Given the description of an element on the screen output the (x, y) to click on. 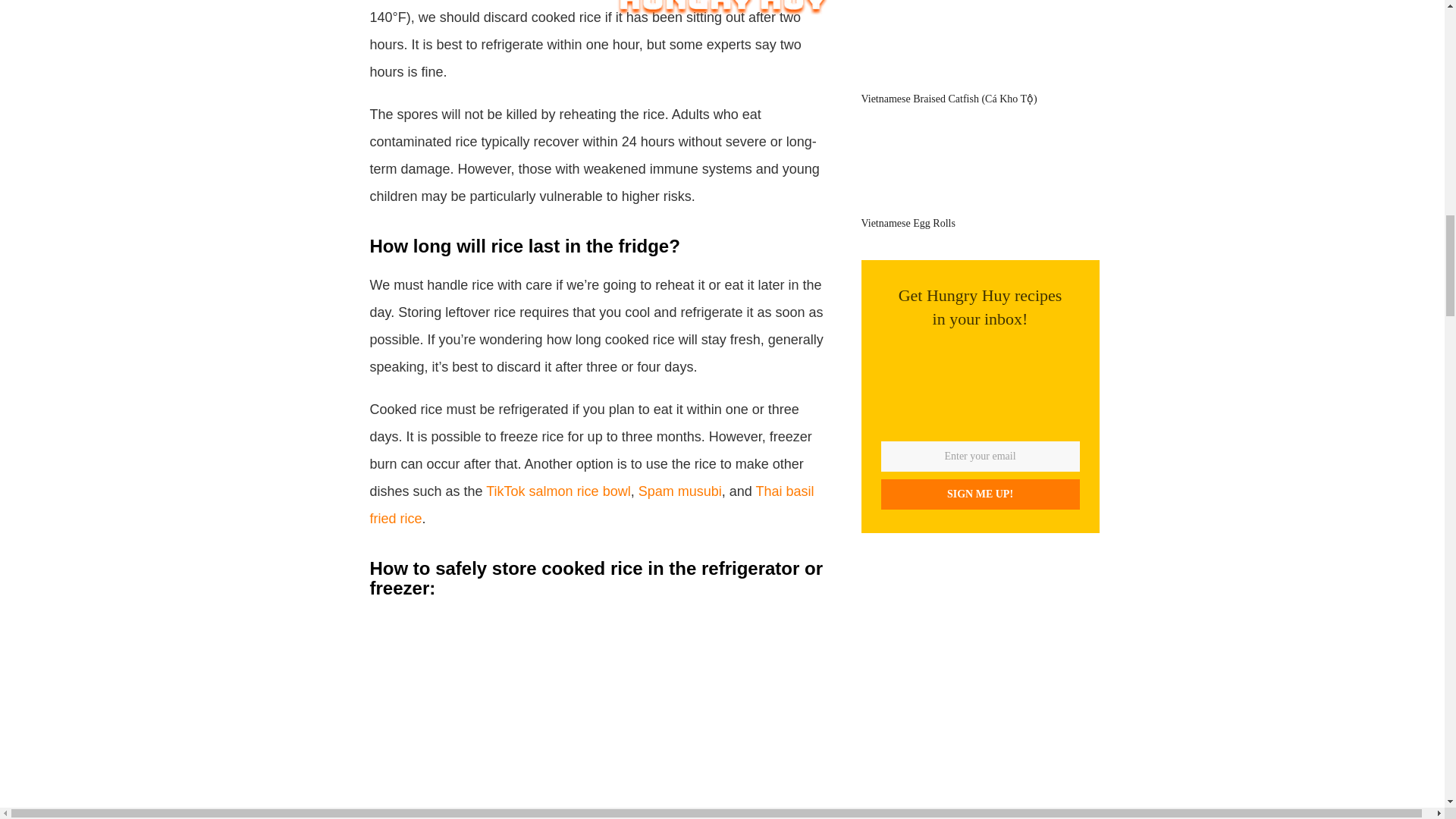
Thai basil fried rice (591, 505)
Spam musubi (680, 491)
TikTok salmon rice bowl (558, 491)
